Given the description of an element on the screen output the (x, y) to click on. 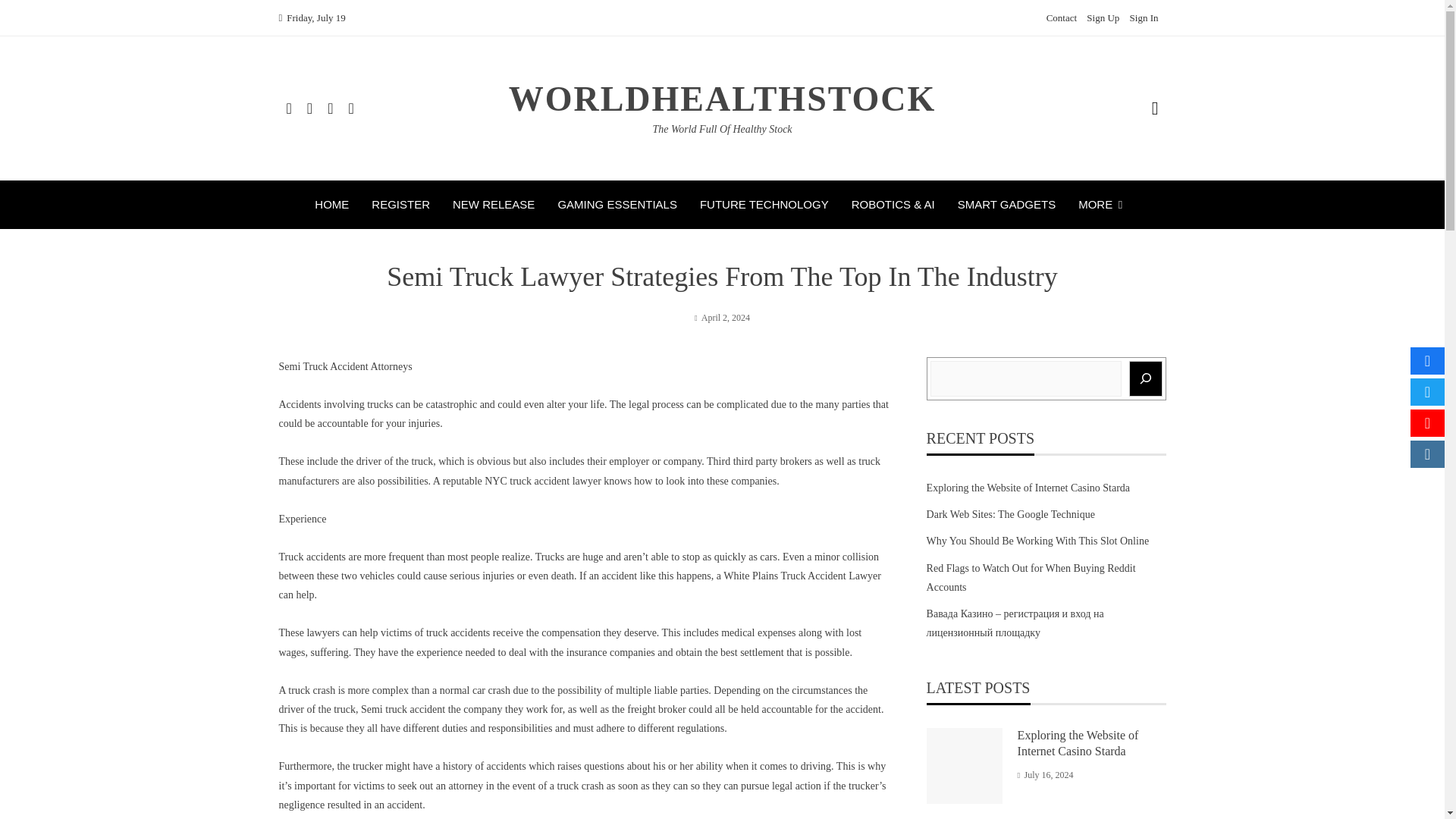
FUTURE TECHNOLOGY (764, 204)
WORLDHEALTHSTOCK (722, 98)
Red Flags to Watch Out for When Buying Reddit Accounts (1030, 577)
Contact (1061, 17)
Sign In (1143, 17)
MORE (1103, 204)
Exploring the Website of Internet Casino Starda (1077, 742)
REGISTER (400, 204)
Semi Truck Accident (323, 366)
NEW RELEASE (493, 204)
Sign Up (1102, 17)
Why You Should Be Working With This Slot Online (1038, 541)
SMART GADGETS (1006, 204)
Exploring the Website of Internet Casino Starda (1027, 487)
Dark Web Sites: The Google Technique (1010, 514)
